Given the description of an element on the screen output the (x, y) to click on. 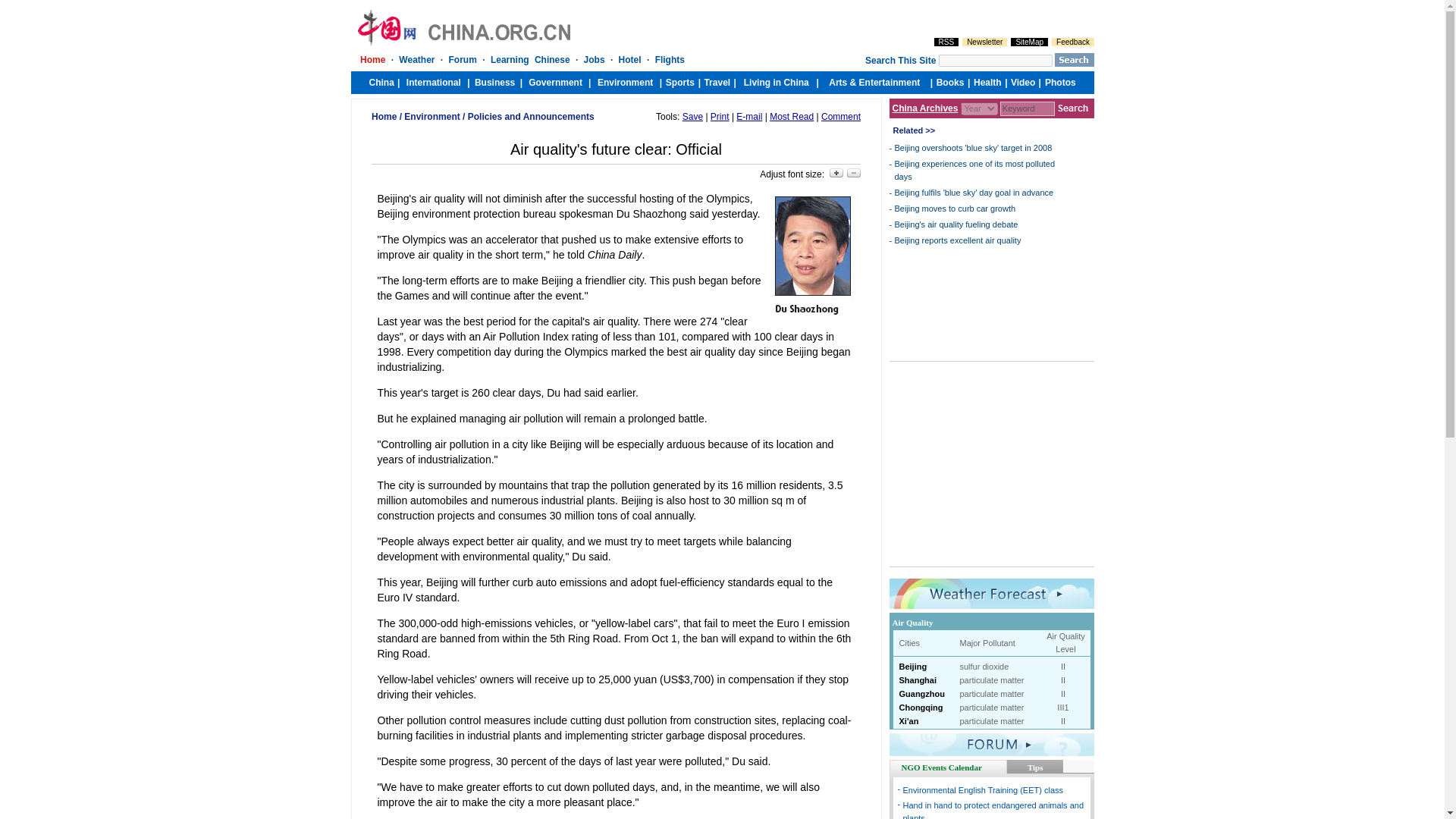
Home (383, 116)
Cities (909, 642)
Air Quality (912, 622)
Beijing reports excellent air quality (958, 239)
Beijing fulfils 'blue sky' day goal in advance (974, 192)
Print (719, 116)
Comment (840, 116)
Beijing experiences one of its most polluted days (975, 169)
Most Read (791, 116)
Policies and Announcements (530, 116)
Environment (432, 116)
Keyword (1027, 108)
Beijing's air quality fueling debate (956, 224)
Beijing moves to curb car growth (955, 207)
